Given the description of an element on the screen output the (x, y) to click on. 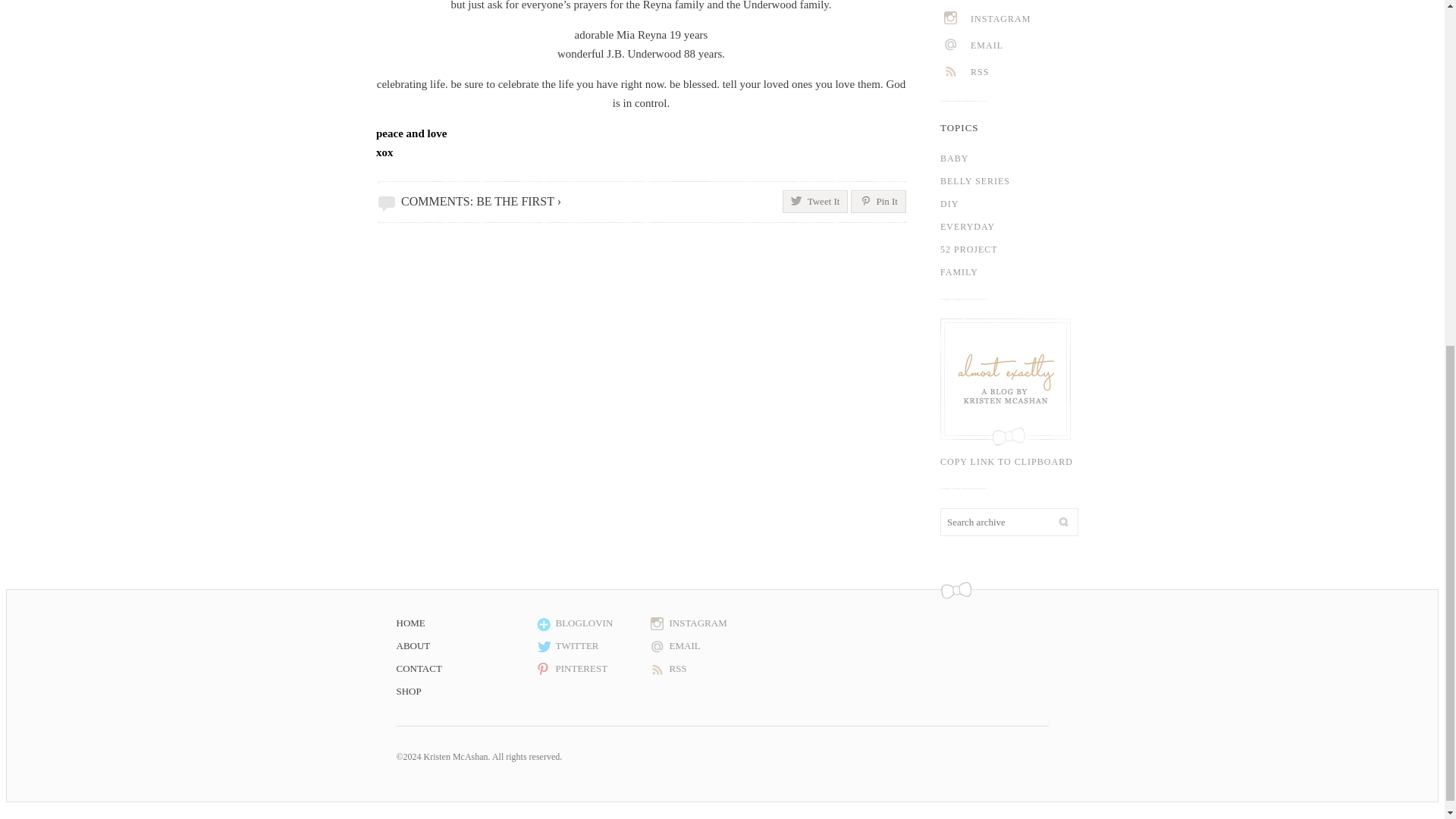
CONTACT (464, 668)
INSTAGRAM (703, 622)
EMAIL (703, 645)
Tweet It (815, 201)
SHOP (464, 691)
PINTEREST (589, 668)
PINTEREST (1027, 2)
Pin It (877, 201)
TWITTER (589, 645)
FAMILY (1021, 272)
